Given the description of an element on the screen output the (x, y) to click on. 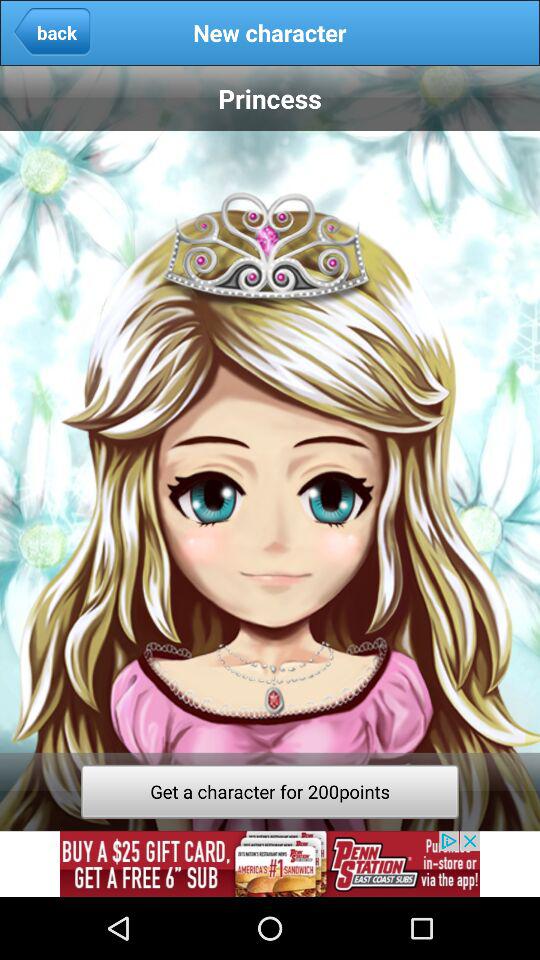
open advertisement page (270, 864)
